Given the description of an element on the screen output the (x, y) to click on. 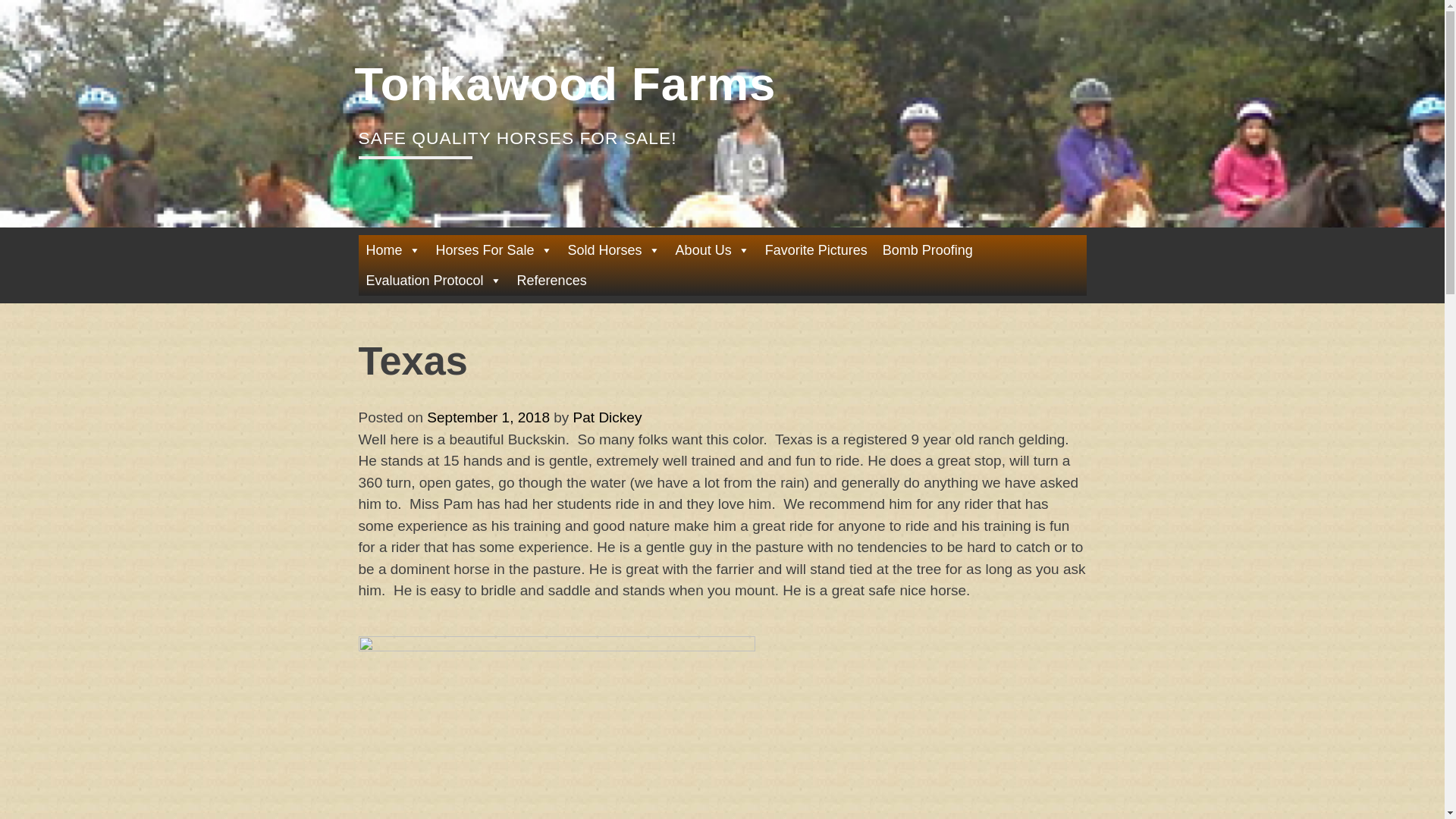
Evaluation Protocol (433, 280)
Horses For Sale (494, 250)
About Us (712, 250)
Tonkawood Farms (565, 83)
Favorite Pictures (816, 250)
Tonkawood Farms (565, 83)
References (551, 280)
Sold Horses (614, 250)
Home (393, 250)
September 1, 2018 (488, 417)
